Given the description of an element on the screen output the (x, y) to click on. 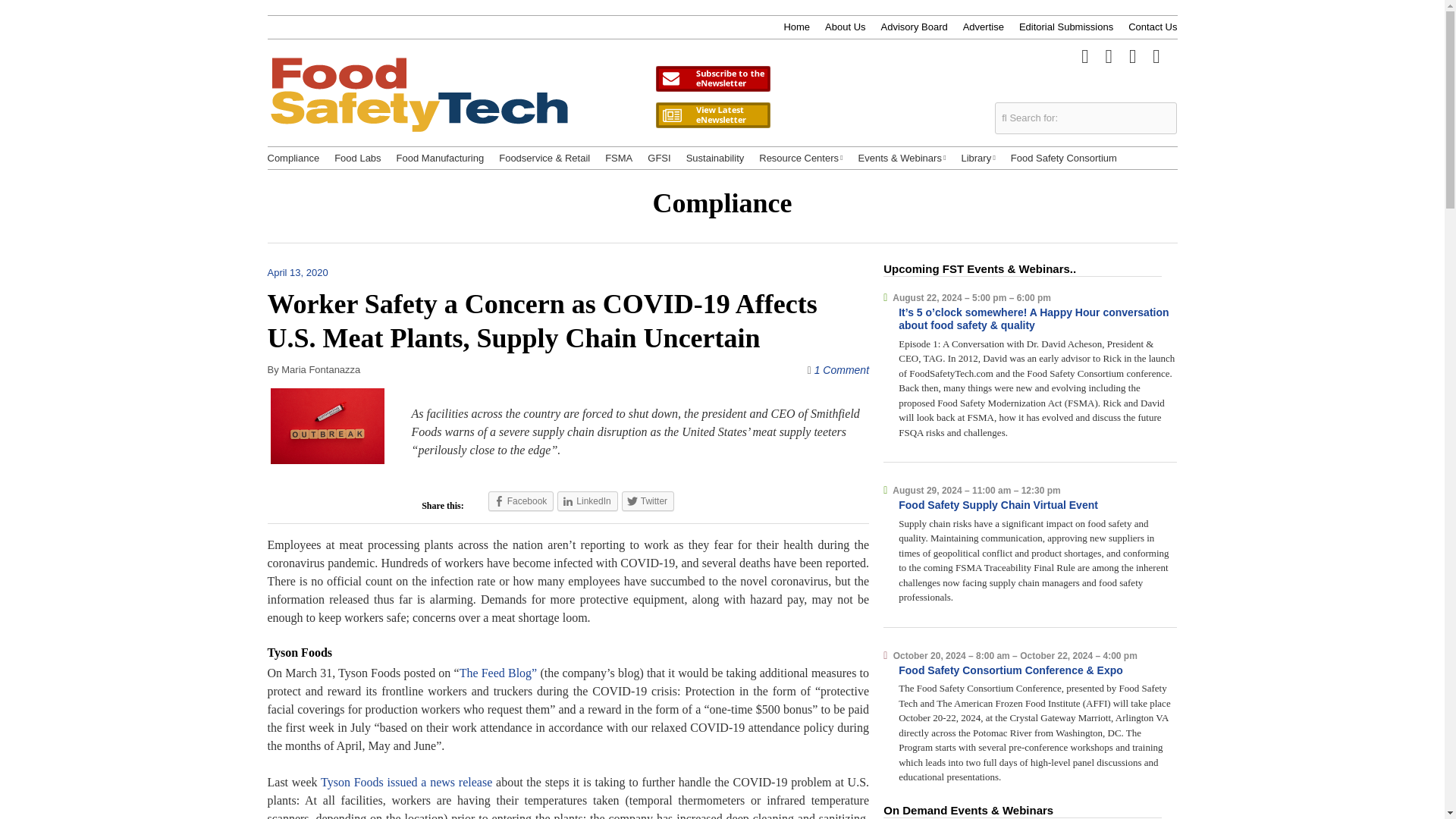
Follow me on Twitter (1084, 55)
Library (977, 157)
Home (796, 27)
Editorial Submissions (1066, 27)
Subscribe to my RSS Feed (1156, 55)
FoodSafetyTech (417, 107)
Resource Centers (800, 157)
Click to share on Twitter (647, 501)
Food Labs (357, 157)
Advisory Board (913, 27)
